Given the description of an element on the screen output the (x, y) to click on. 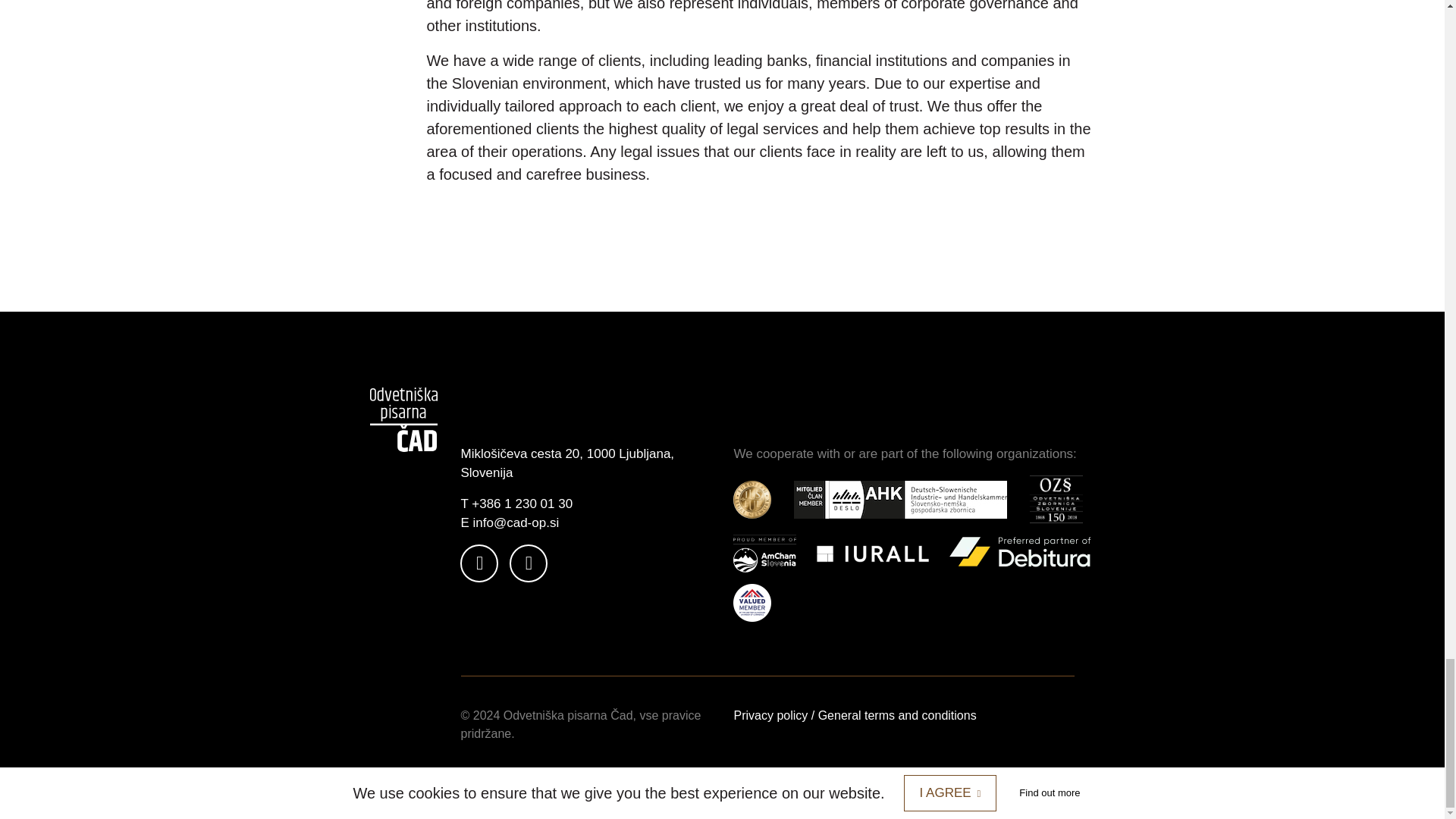
General terms and conditions (897, 715)
Debitura (1020, 553)
Iurall (872, 552)
Privacy policy (770, 715)
